Given the description of an element on the screen output the (x, y) to click on. 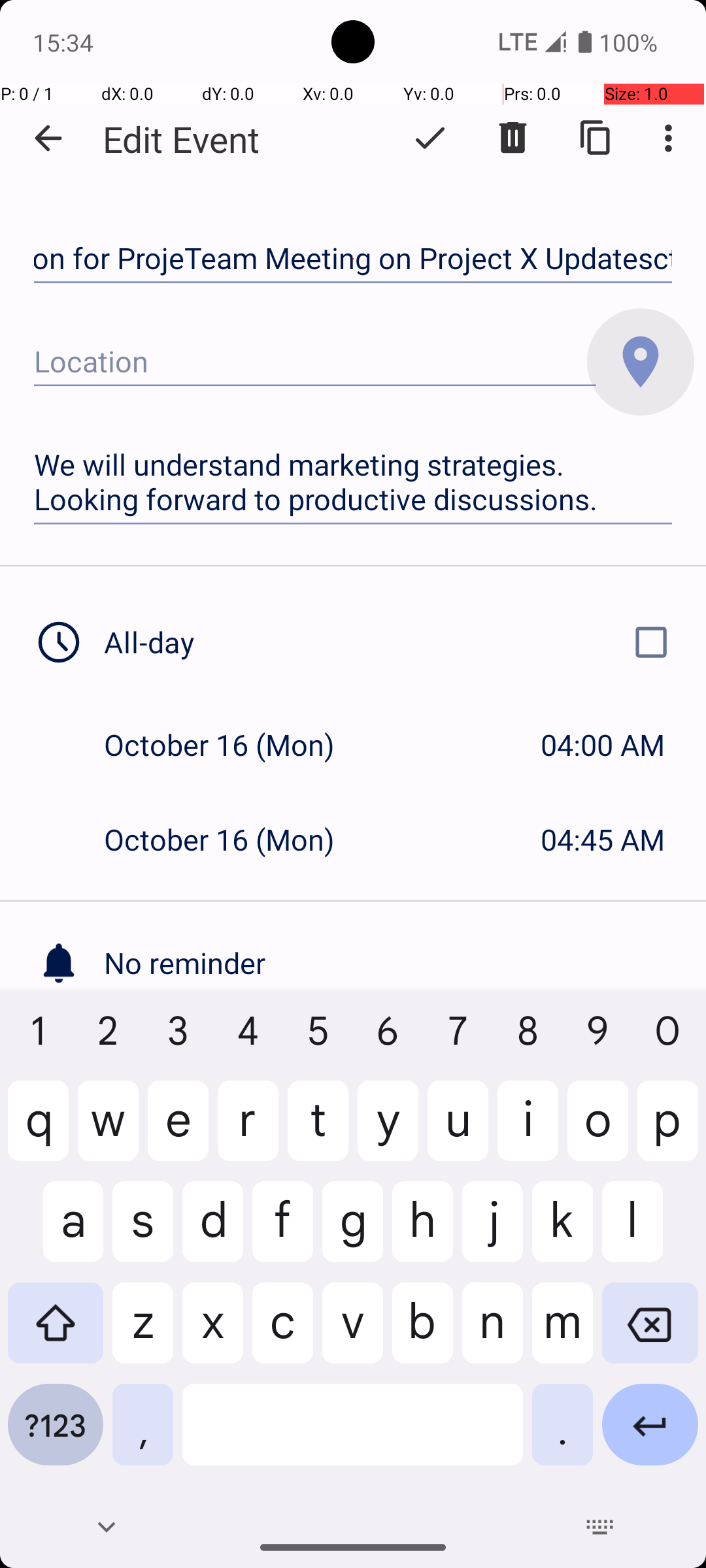
Review session for ProjeTeam Meeting on Project X Updatesct X Element type: android.widget.EditText (352, 258)
We will understand marketing strategies. Looking forward to productive discussions. Element type: android.widget.EditText (352, 482)
04:00 AM Element type: android.widget.TextView (602, 744)
04:45 AM Element type: android.widget.TextView (602, 838)
